Given the description of an element on the screen output the (x, y) to click on. 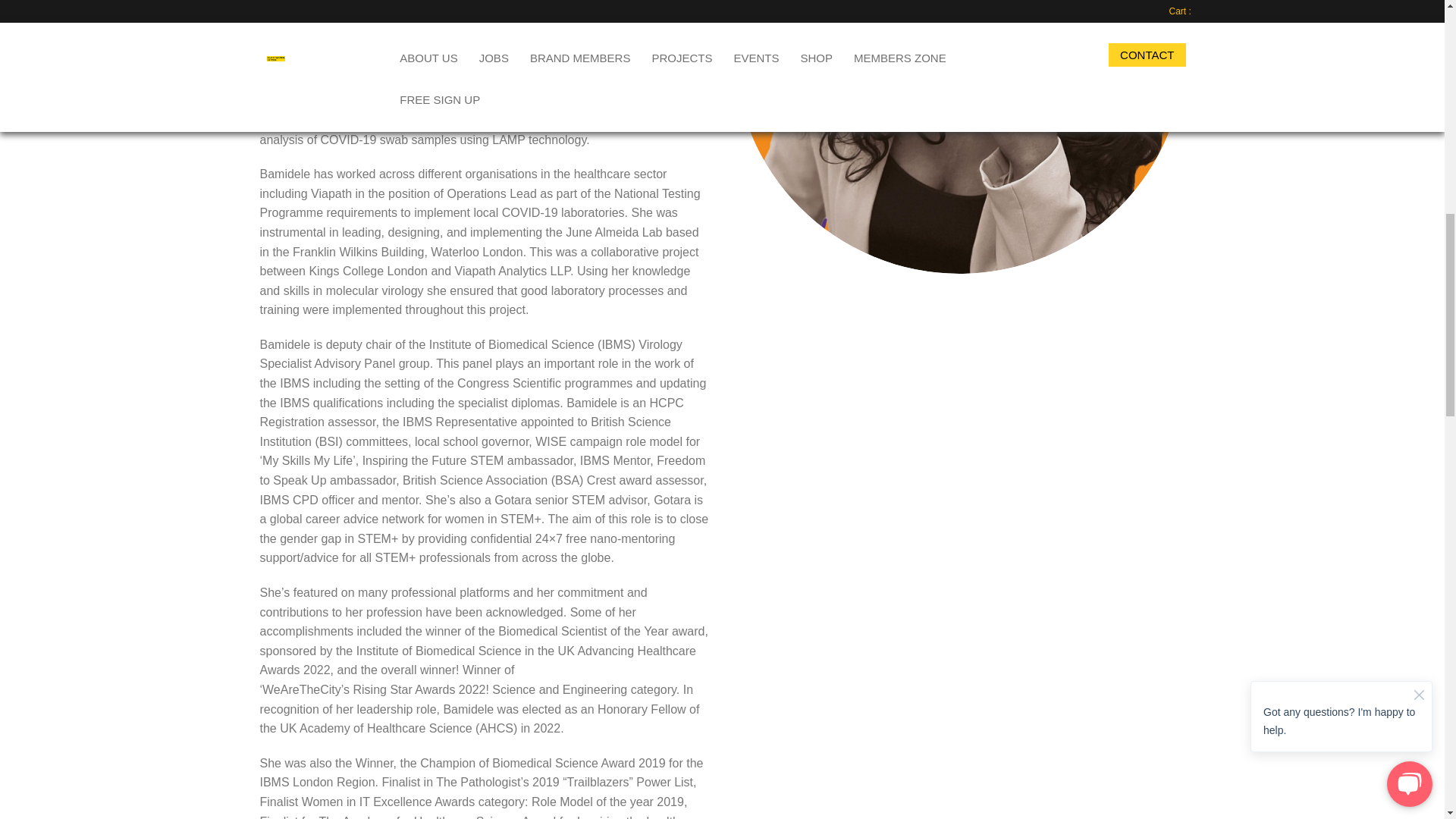
bamidele-farinre (959, 136)
